Given the description of an element on the screen output the (x, y) to click on. 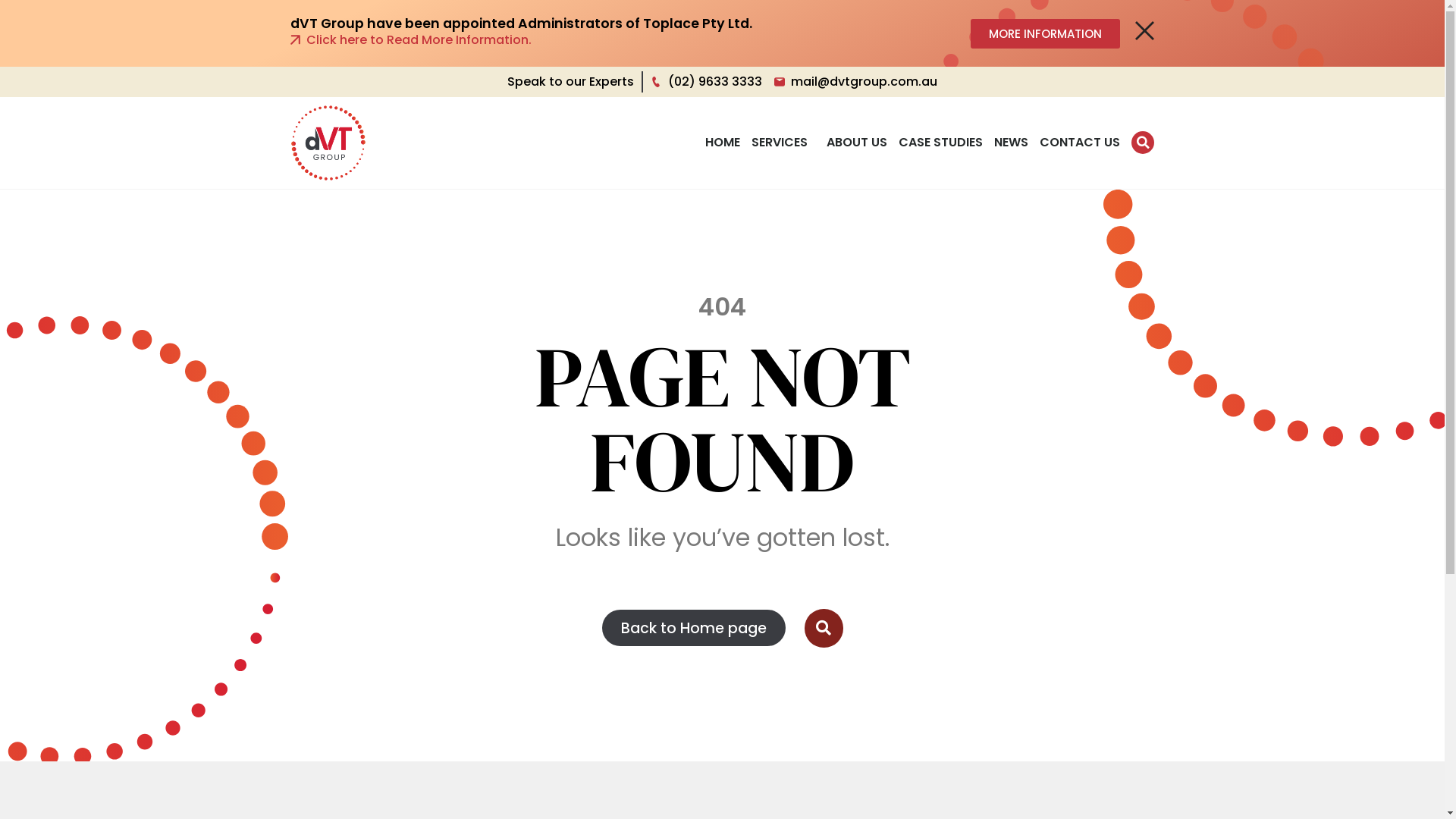
CASE STUDIES Element type: text (940, 142)
HOME Element type: text (722, 142)
ABOUT US Element type: text (856, 142)
mail@dvtgroup.com.au Element type: text (855, 81)
CONTACT US Element type: text (1079, 142)
NEWS Element type: text (1011, 142)
(02) 9633 3333 Element type: text (706, 81)
Back to Home page Element type: text (693, 627)
MORE INFORMATION Element type: text (1045, 32)
SERVICES Element type: text (783, 142)
Click here to Read More Information. Element type: text (571, 40)
